Given the description of an element on the screen output the (x, y) to click on. 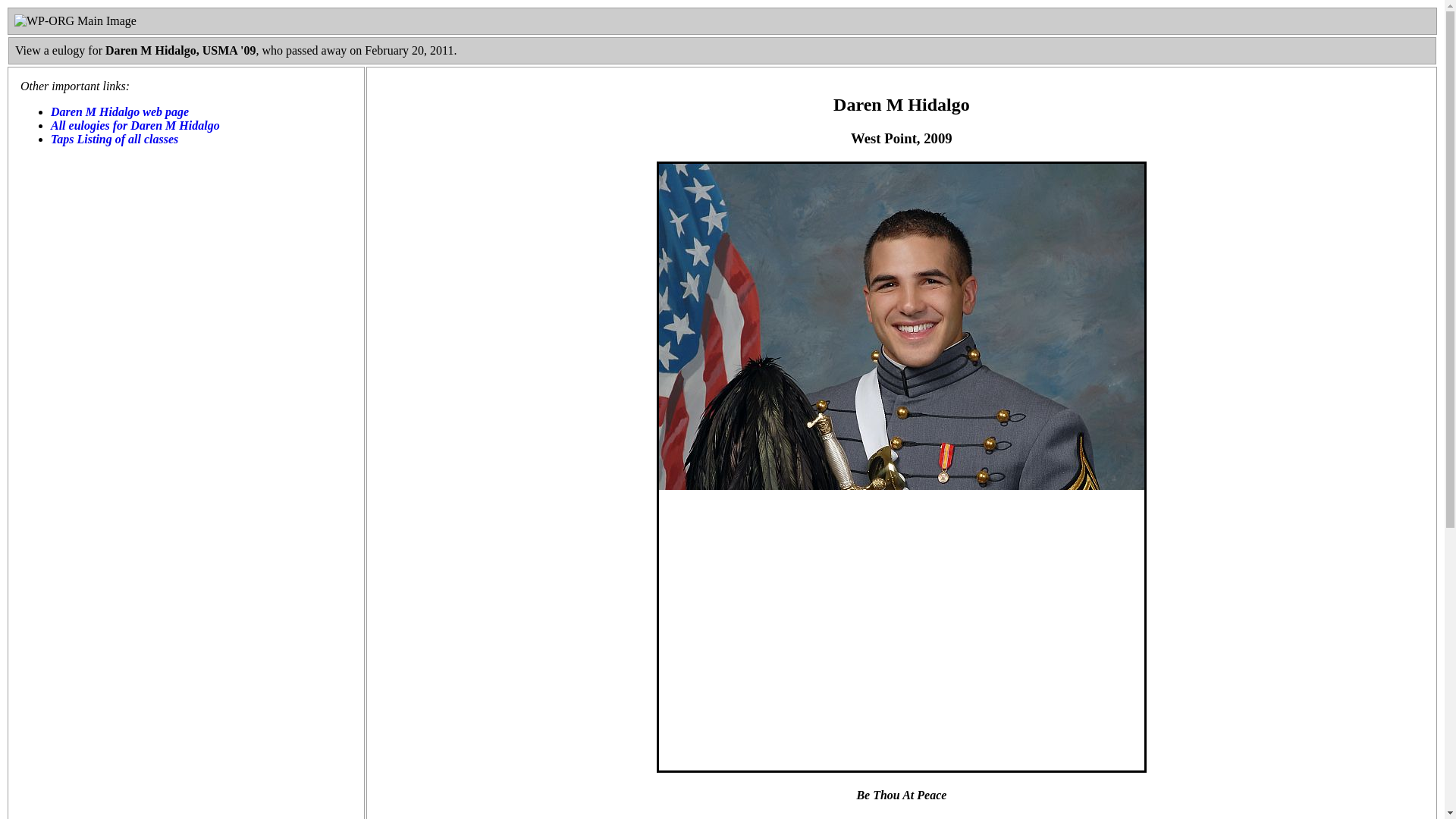
All eulogies for Daren M Hidalgo (134, 124)
Daren M Hidalgo web page (119, 111)
Taps Listing of all classes (113, 138)
